Given the description of an element on the screen output the (x, y) to click on. 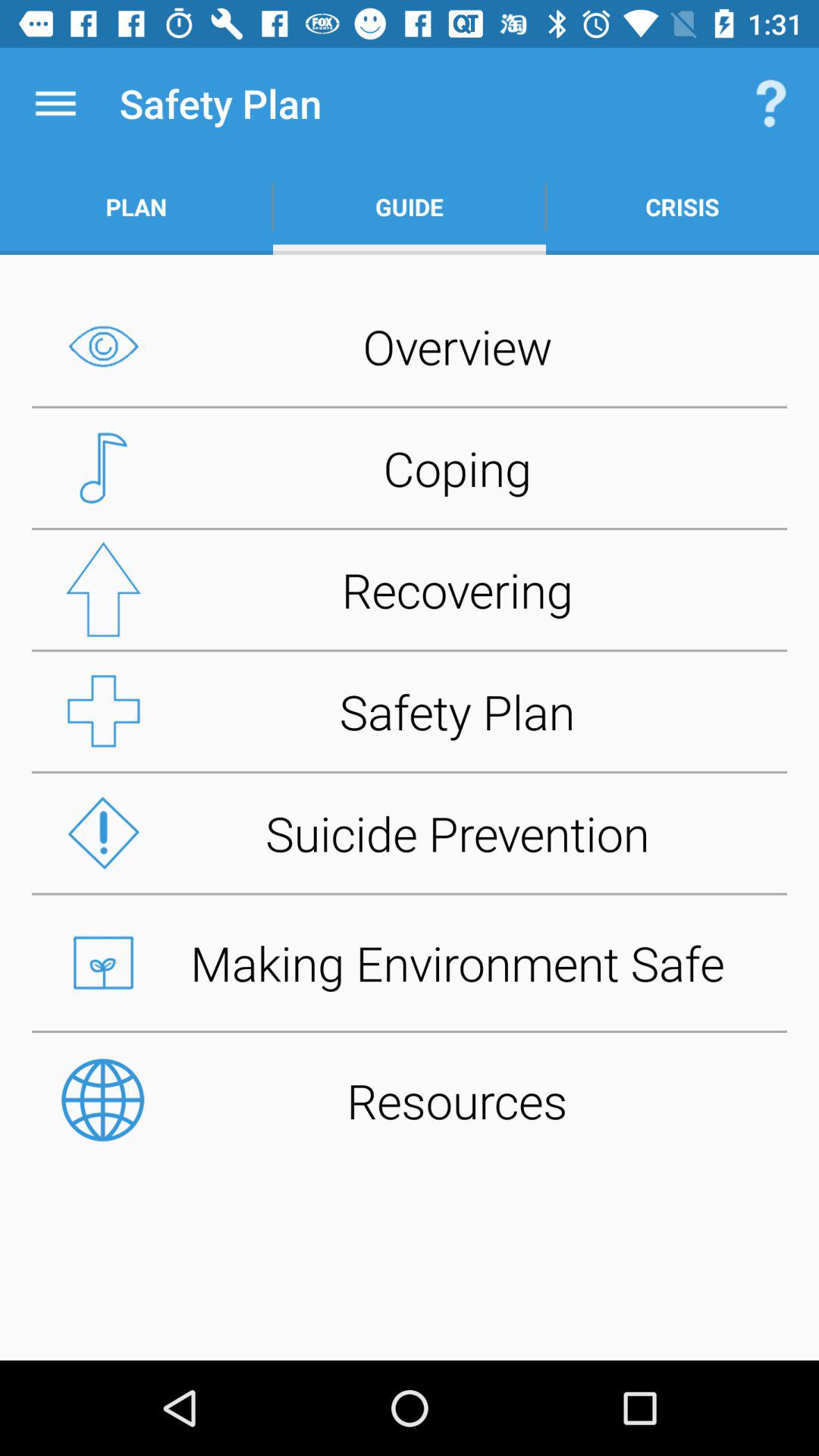
scroll until the guide (409, 206)
